Given the description of an element on the screen output the (x, y) to click on. 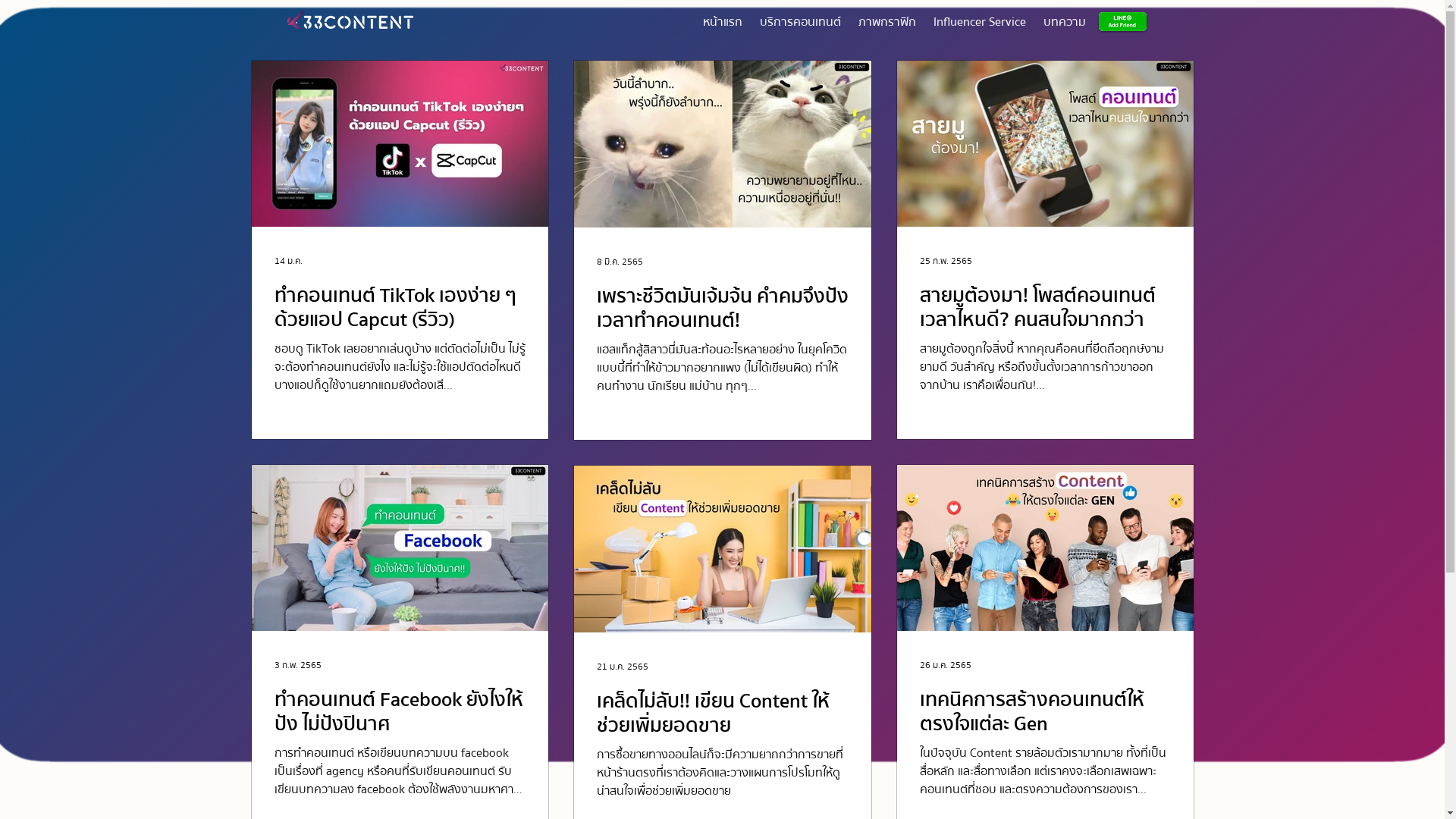
Influencer Service Element type: text (980, 21)
TWIPLA (Visitor Analytics) Element type: hover (1442, 4)
33Content LOGO Element type: hover (349, 18)
line add friend Element type: hover (1121, 21)
